Given the description of an element on the screen output the (x, y) to click on. 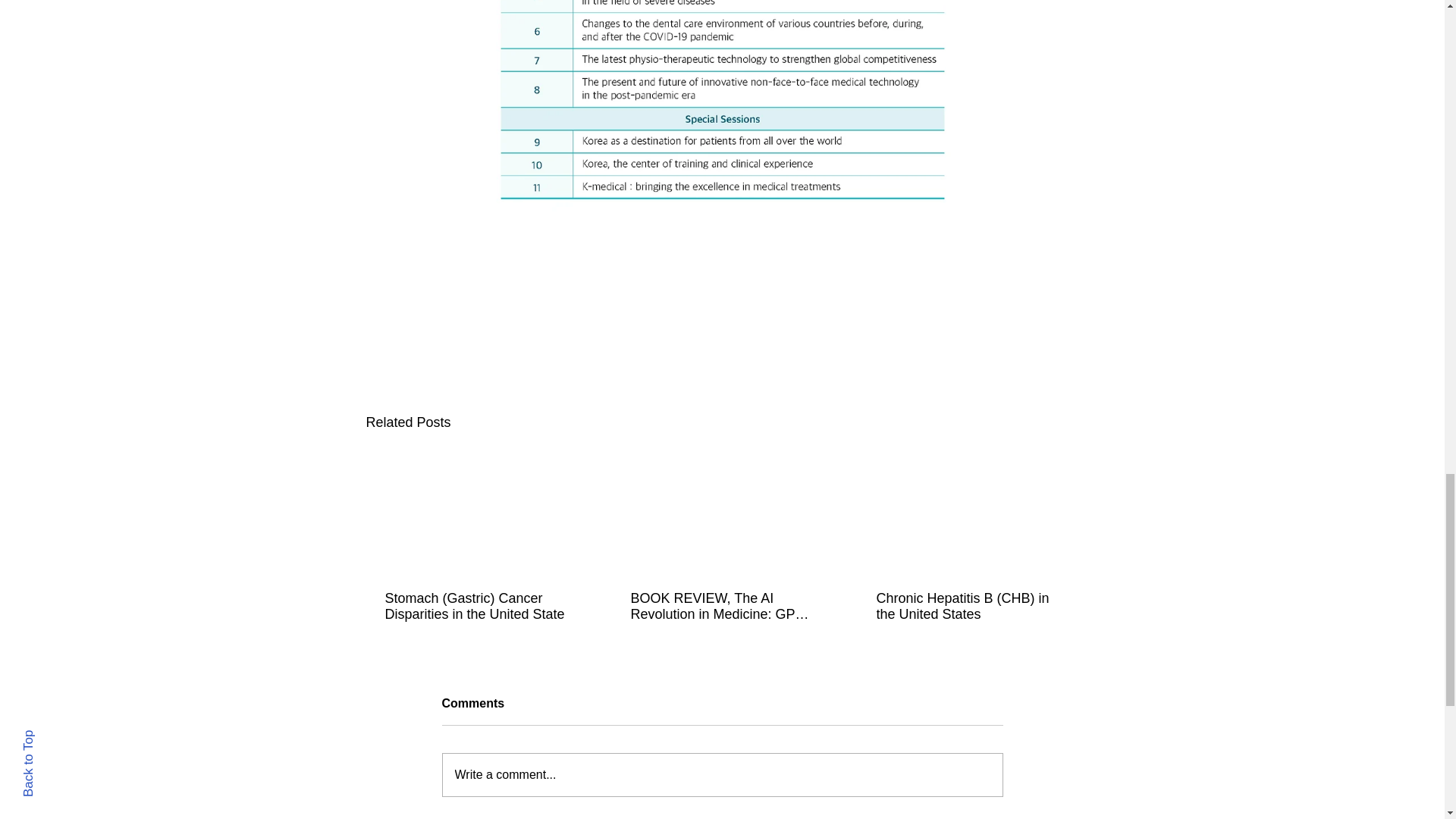
BOOK REVIEW, The AI Revolution in Medicine: GPT-4 and Beyond (721, 606)
Write a comment... (722, 774)
